Given the description of an element on the screen output the (x, y) to click on. 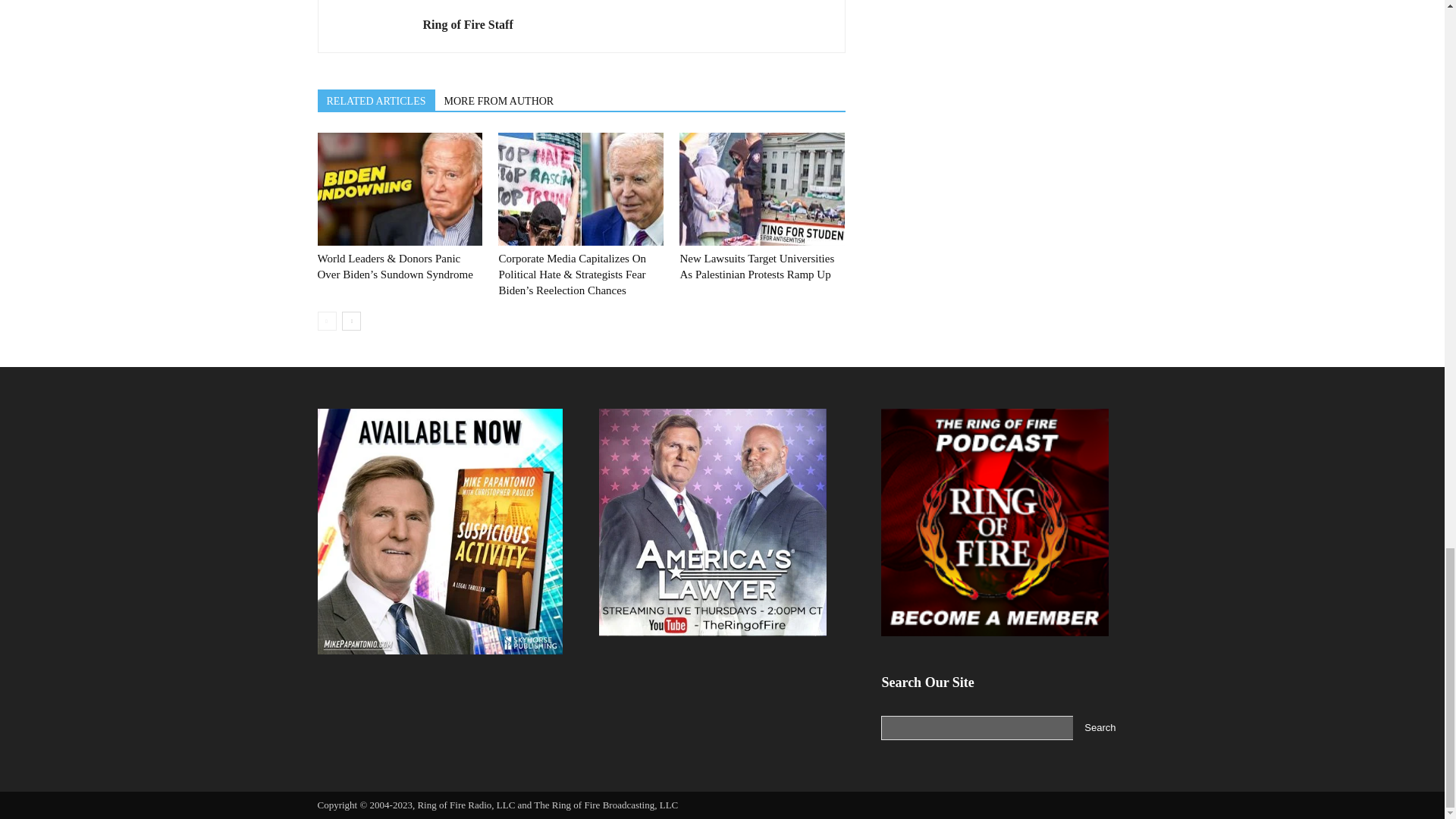
Search (1099, 727)
